Given the description of an element on the screen output the (x, y) to click on. 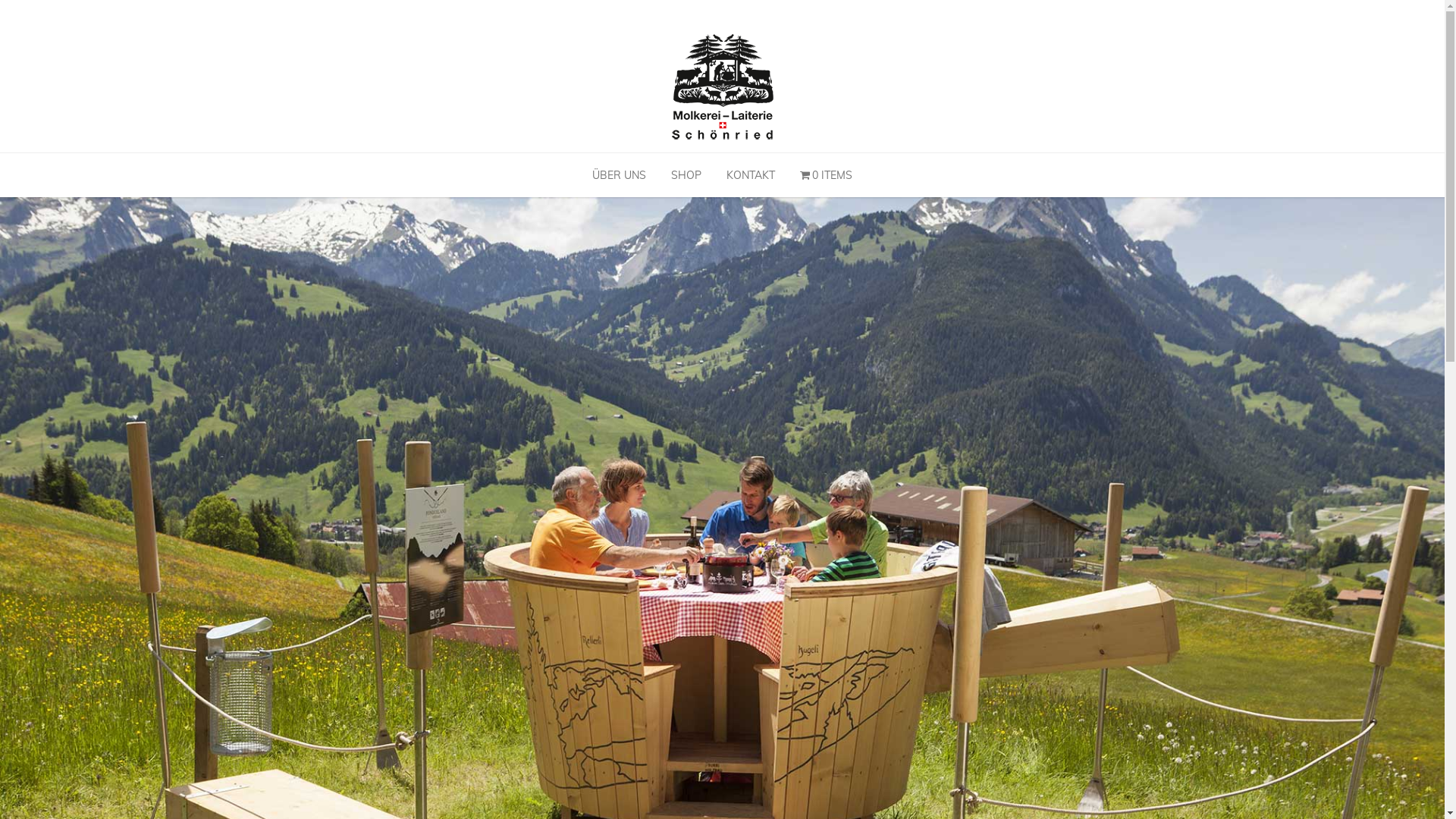
SHOP Element type: text (685, 175)
0 ITEMS Element type: text (826, 175)
KONTAKT Element type: text (750, 175)
